Given the description of an element on the screen output the (x, y) to click on. 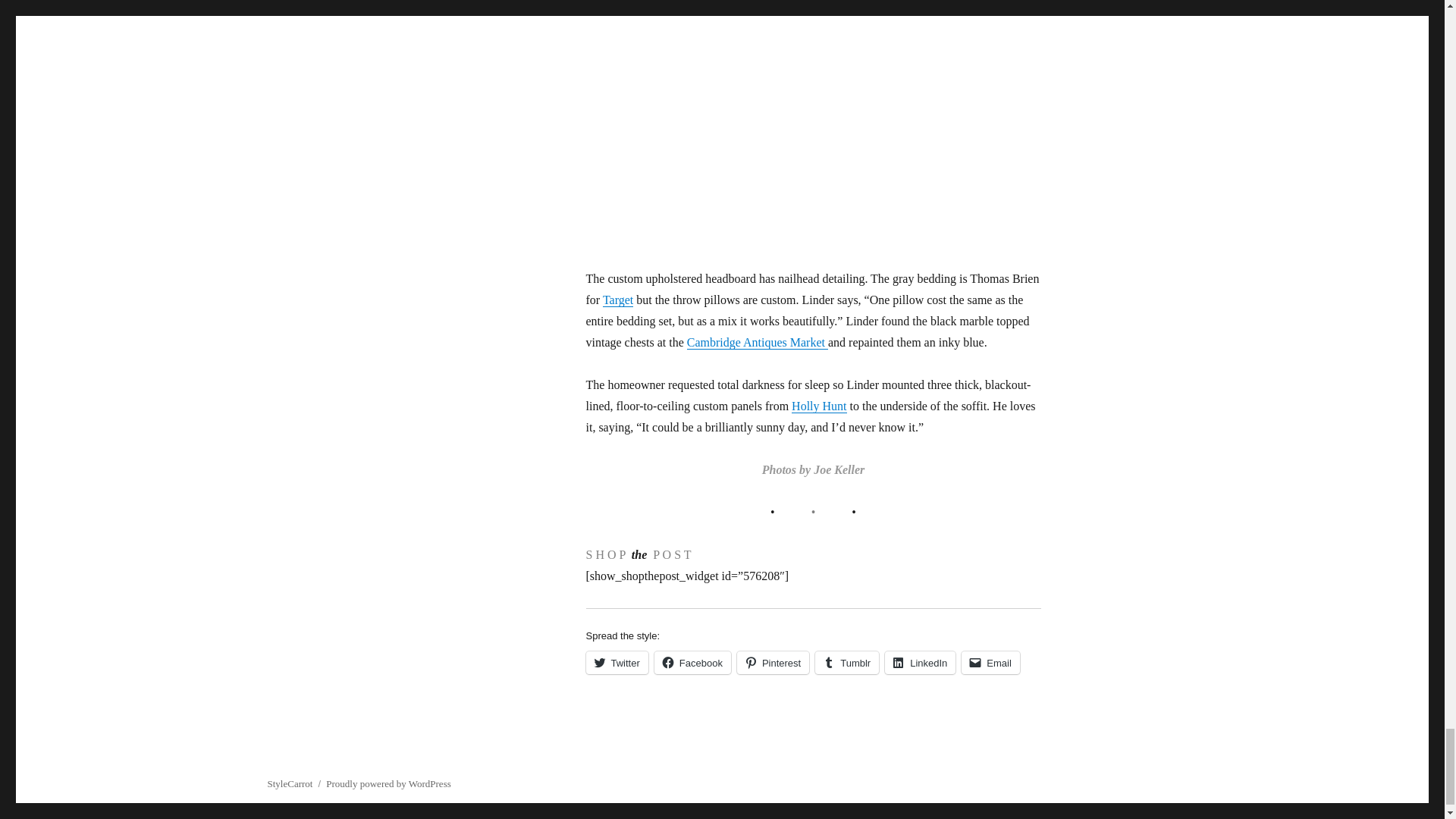
Email (990, 662)
Target (617, 299)
Click to share on Tumblr (847, 662)
Click to share on Facebook (691, 662)
Click to share on Twitter (616, 662)
Click to email a link to a friend (990, 662)
Cambridge Antiques Market (757, 341)
Click to share on LinkedIn (920, 662)
Facebook (691, 662)
Pinterest (772, 662)
Holly Hunt (818, 405)
Twitter (616, 662)
Tumblr (847, 662)
LinkedIn (920, 662)
Click to share on Pinterest (772, 662)
